Given the description of an element on the screen output the (x, y) to click on. 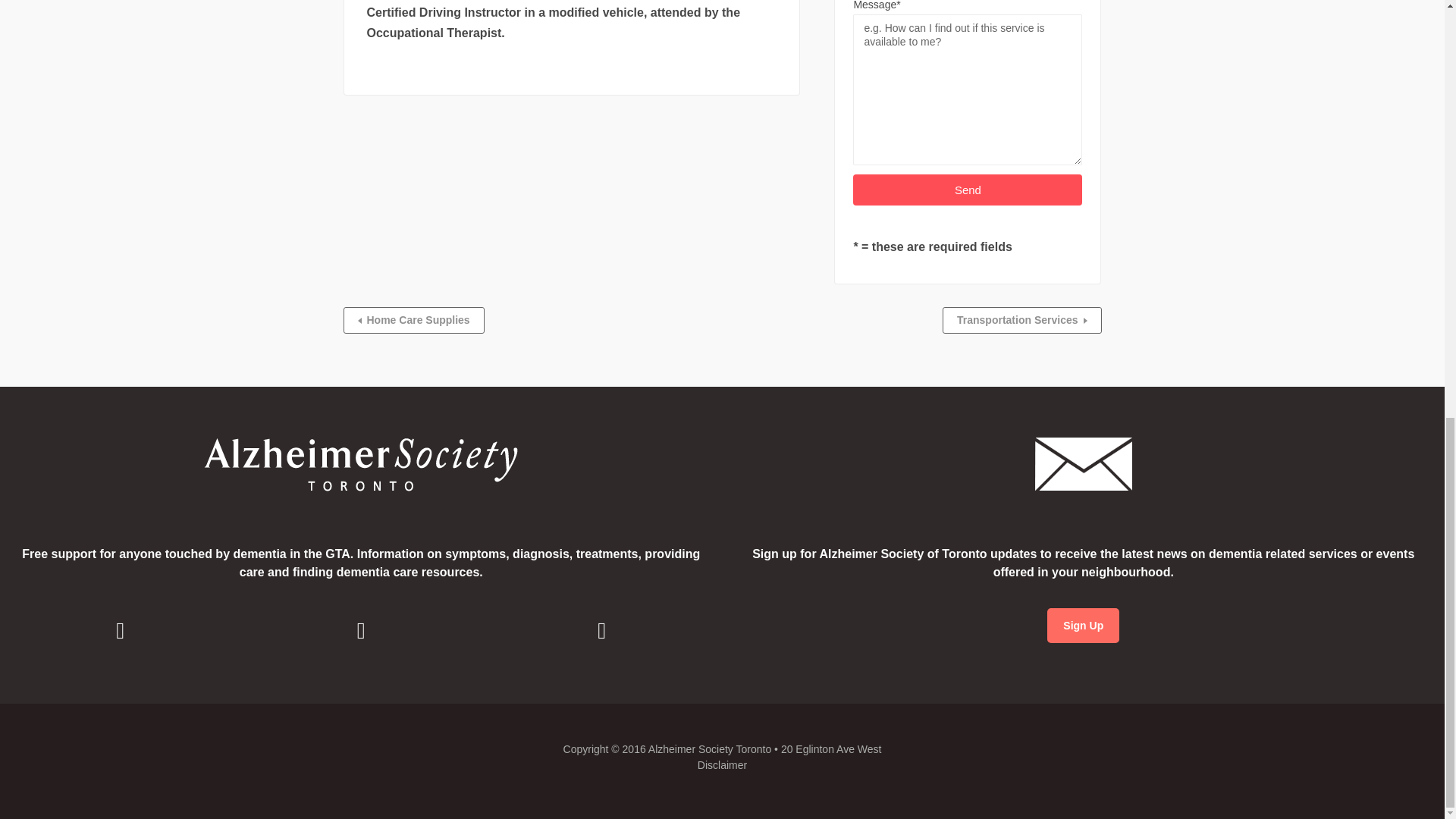
Send (967, 189)
Facebook (120, 630)
Twitter (601, 630)
Sign Up (1082, 625)
Instagram (360, 630)
Transportation Services (1022, 320)
Send (967, 189)
email-signup-white (1083, 463)
Disclaimer (721, 765)
Home Care Supplies (412, 320)
AST Email Updates (1082, 625)
